Given the description of an element on the screen output the (x, y) to click on. 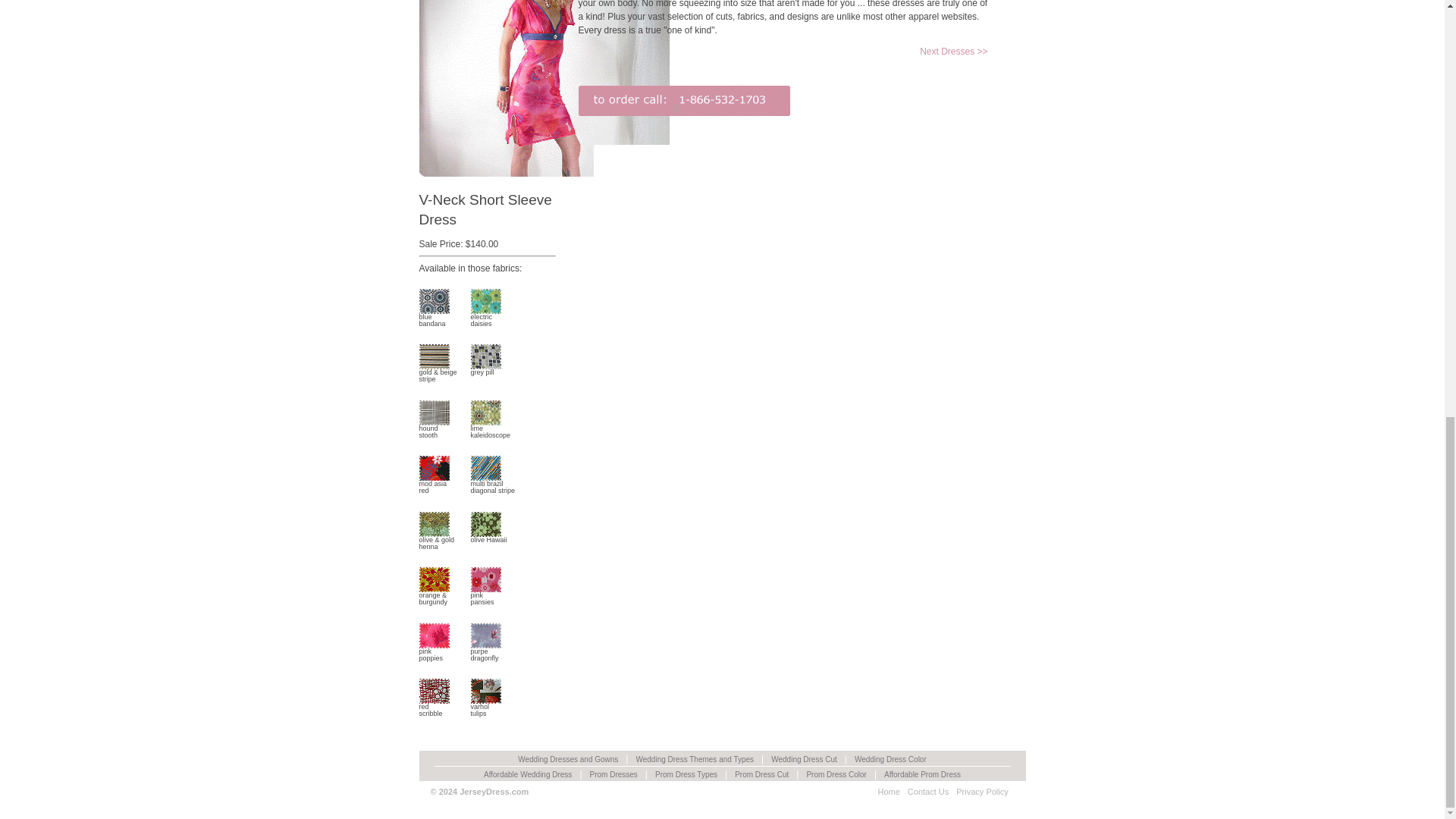
Prom Dress Types (686, 774)
Affordable Prom Dress (485, 707)
Prom Dresses (922, 774)
varhol tulips (433, 428)
hound stooth (613, 774)
olive Hawaii (485, 707)
grey pill (433, 484)
Prom Dress Cut (485, 317)
Home (433, 428)
